Given the description of an element on the screen output the (x, y) to click on. 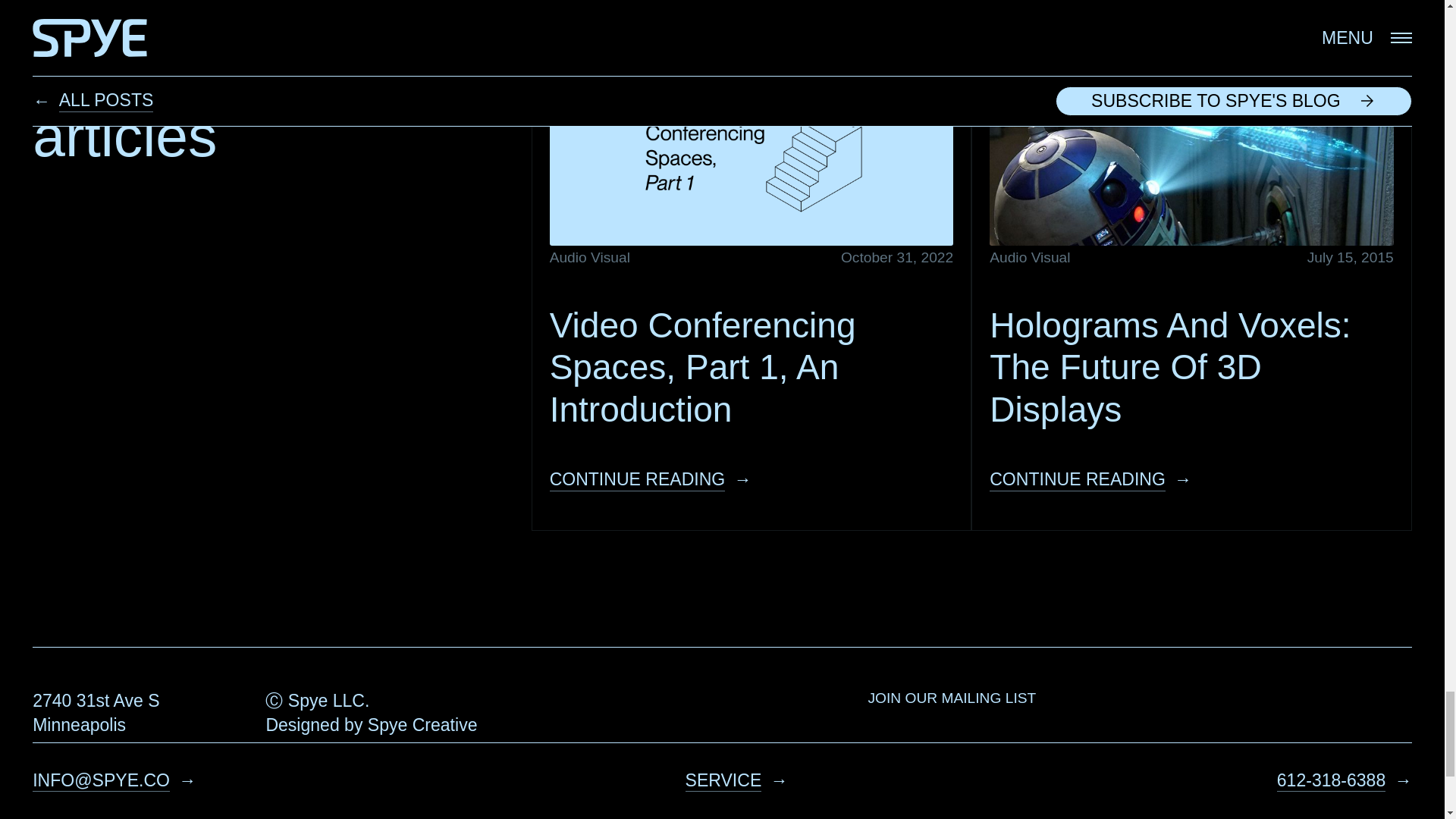
Form 0 (1138, 784)
